Given the description of an element on the screen output the (x, y) to click on. 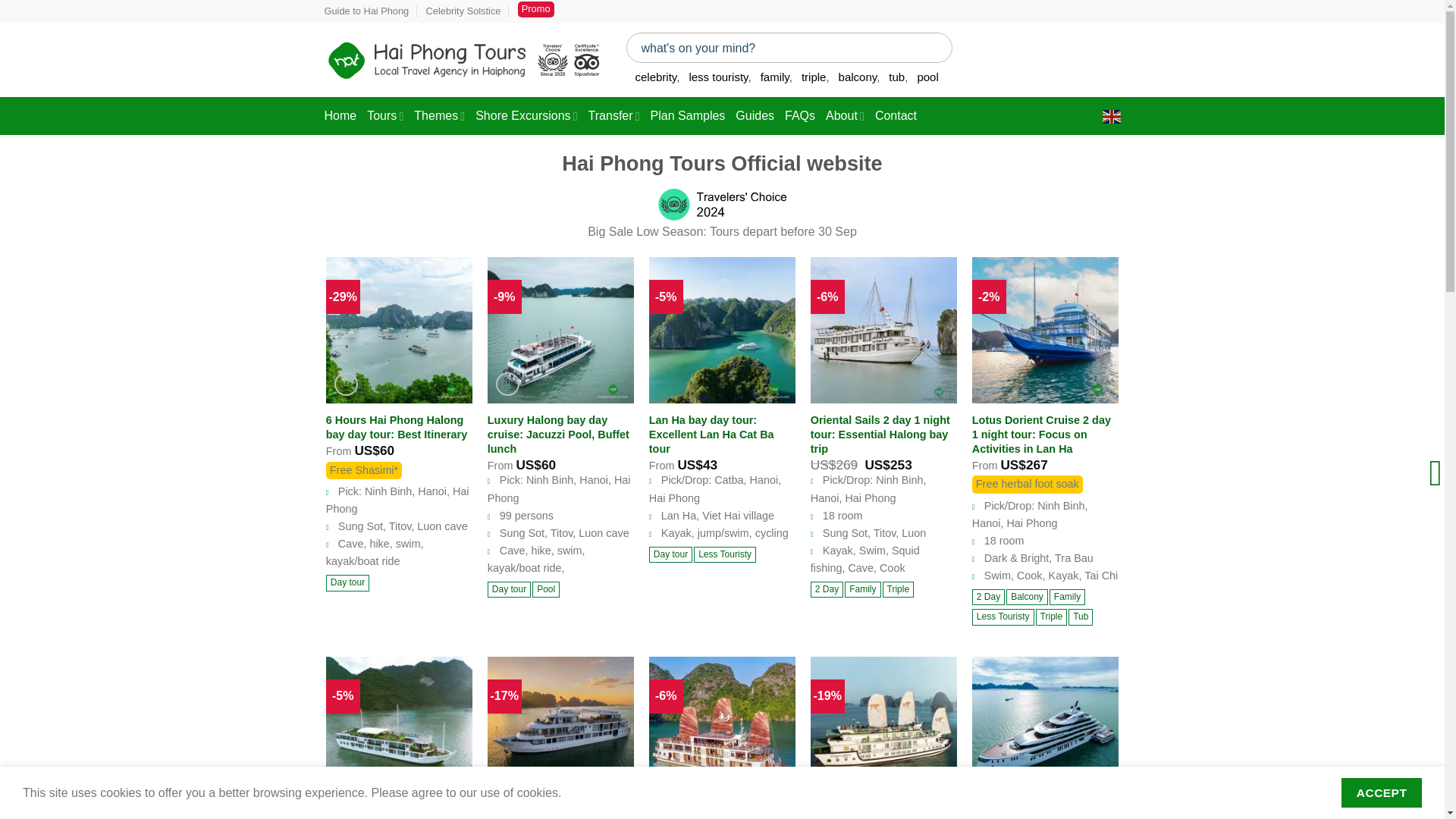
triple (815, 76)
Guide to Hai Phong (366, 11)
Home (340, 116)
All tours and services (384, 116)
Home (340, 116)
Guide to Hai Phong (366, 11)
family (776, 76)
Hai Phong Tours - local agency in Haiphong (464, 59)
Promo (536, 8)
Celebrity Solstice (463, 11)
celebrity (656, 76)
less touristy (719, 76)
Promo (536, 8)
tub (897, 76)
balcony (859, 76)
